Given the description of an element on the screen output the (x, y) to click on. 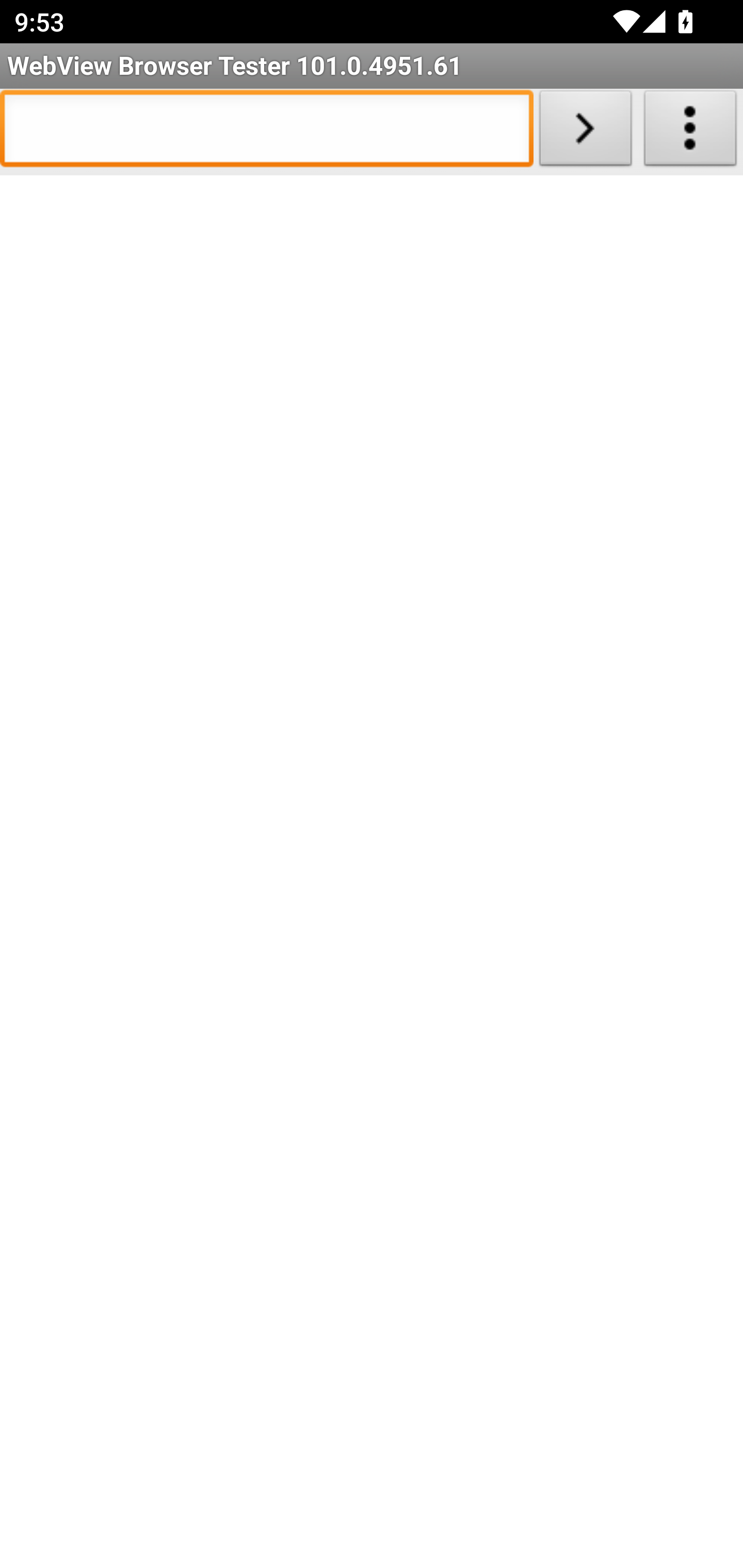
Load URL (585, 132)
About WebView (690, 132)
